Given the description of an element on the screen output the (x, y) to click on. 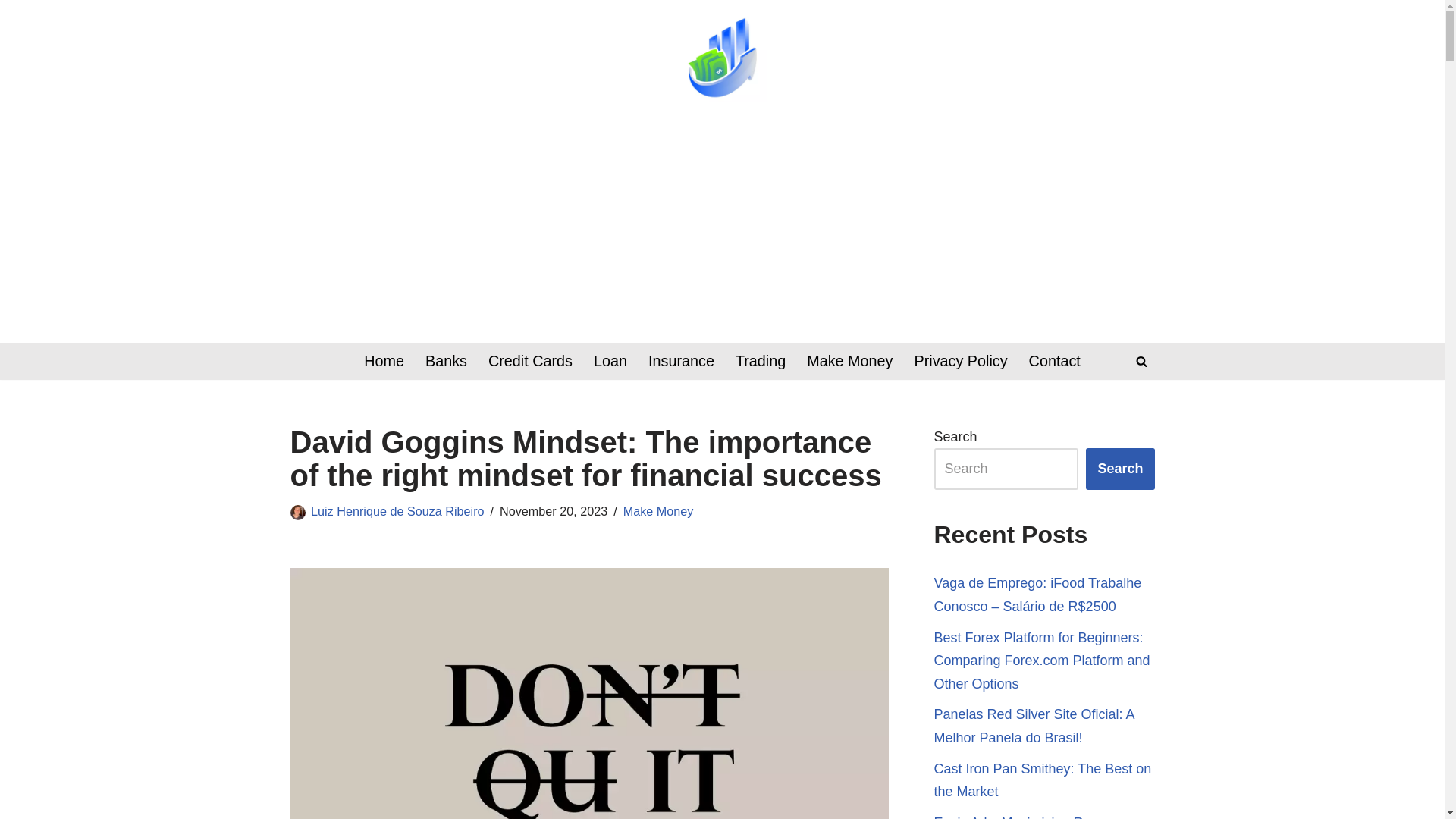
Posts by Luiz Henrique de Souza Ribeiro (397, 510)
Trading (760, 360)
Privacy Policy (960, 360)
Insurance (680, 360)
Contact (1054, 360)
Skip to content (11, 31)
Luiz Henrique de Souza Ribeiro (397, 510)
Credit Cards (529, 360)
Make Money (658, 510)
Make Money (849, 360)
Home (384, 360)
Loan (610, 360)
Banks (446, 360)
